Given the description of an element on the screen output the (x, y) to click on. 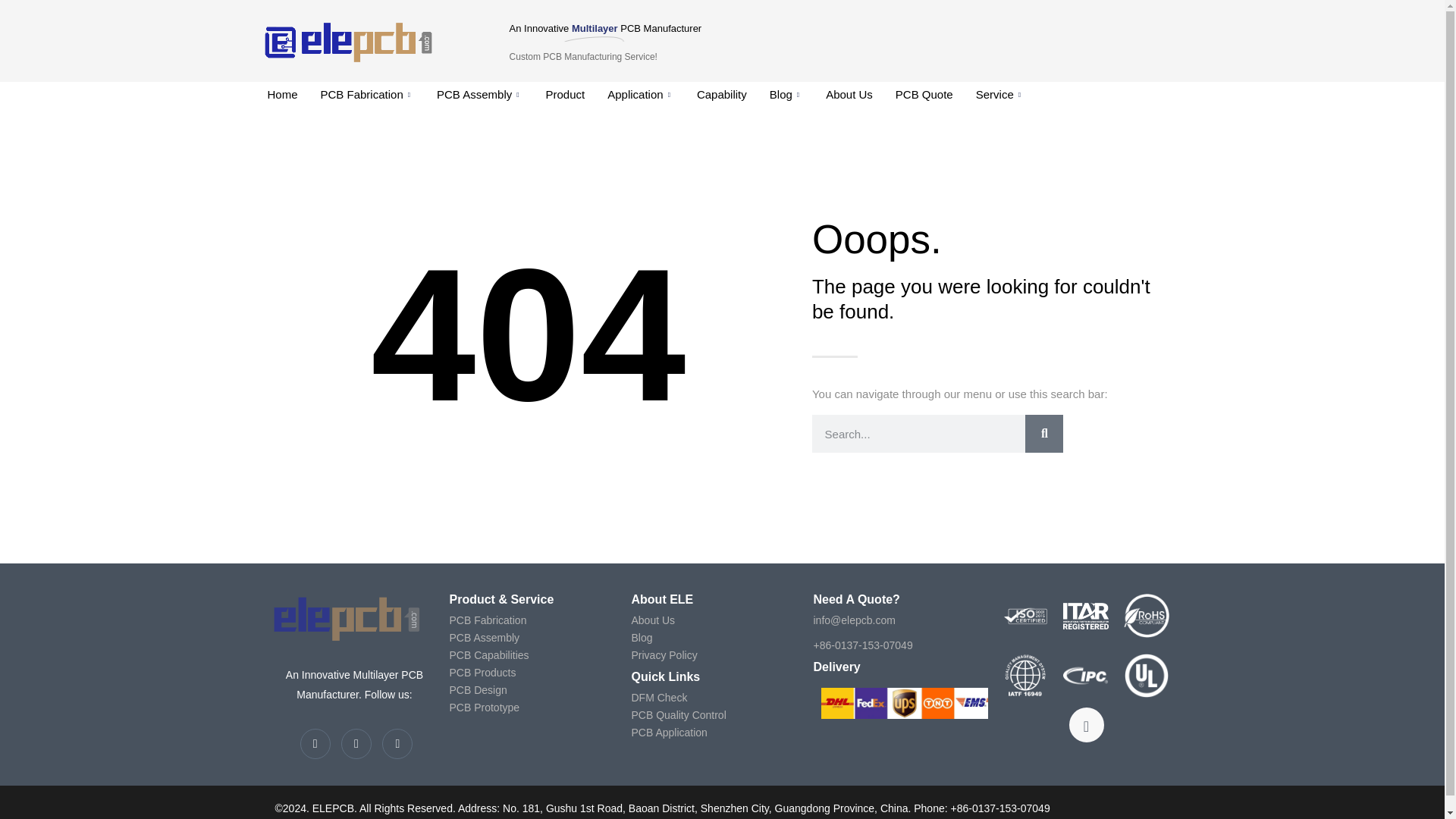
Application (640, 94)
Service (999, 94)
PCB Quote (923, 94)
Blog (785, 94)
Capability (721, 94)
PCB Fabrication (367, 94)
PCB Assembly (479, 94)
Home (282, 94)
About Us (848, 94)
Product (565, 94)
